Given the description of an element on the screen output the (x, y) to click on. 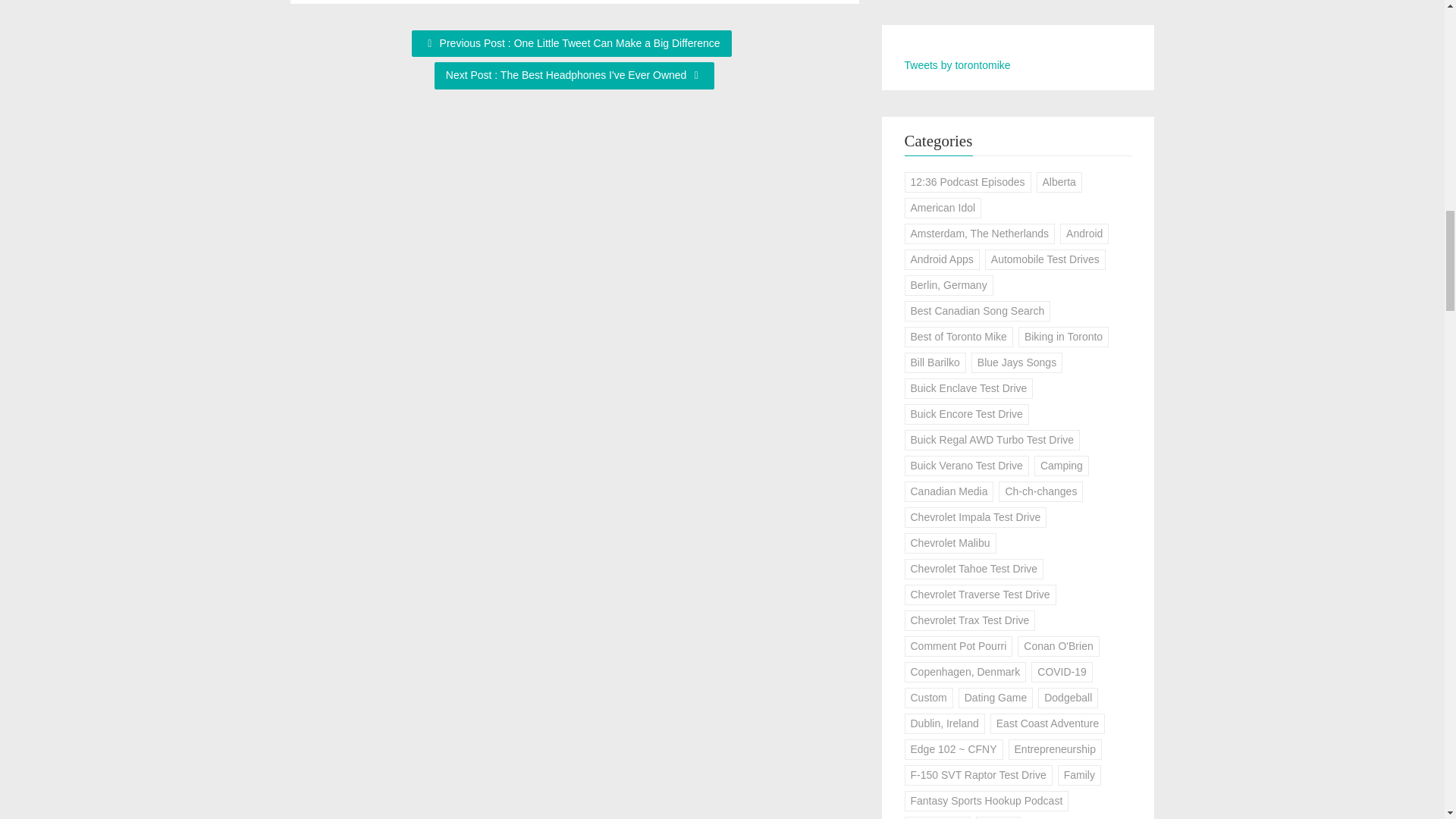
Next Post : The Best Headphones I've Ever Owned (573, 75)
Previous Post : One Little Tweet Can Make a Big Difference (572, 43)
